Given the description of an element on the screen output the (x, y) to click on. 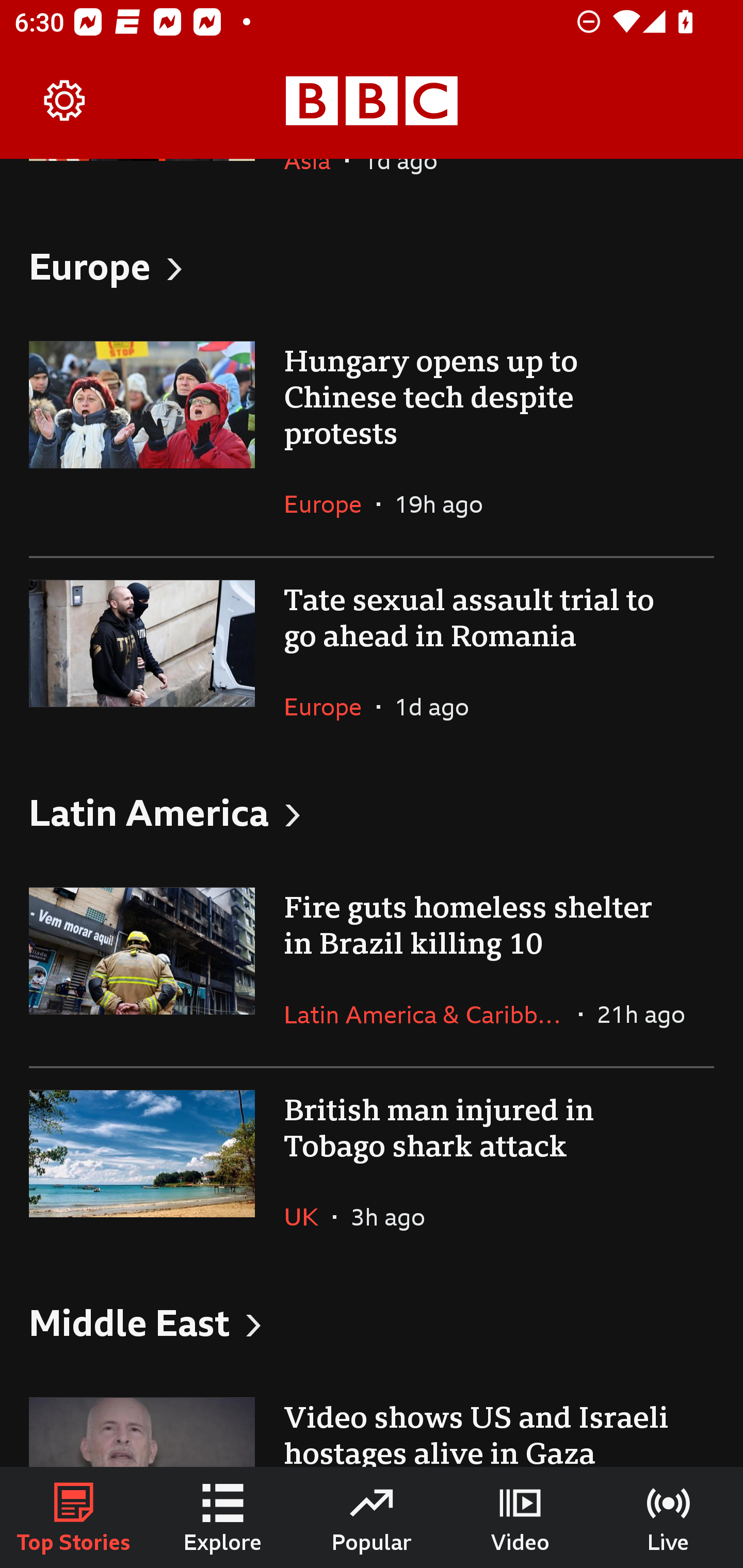
Settings (64, 100)
Europe, Heading Europe    (371, 266)
Europe In the section Europe (329, 503)
Europe In the section Europe (329, 705)
Latin America, Heading Latin America    (371, 811)
UK In the section UK (307, 1216)
Middle East, Heading Middle East    (371, 1321)
Video shows US and Israeli hostages alive in Gaza (371, 1421)
Explore (222, 1517)
Popular (371, 1517)
Video (519, 1517)
Live (668, 1517)
